Given the description of an element on the screen output the (x, y) to click on. 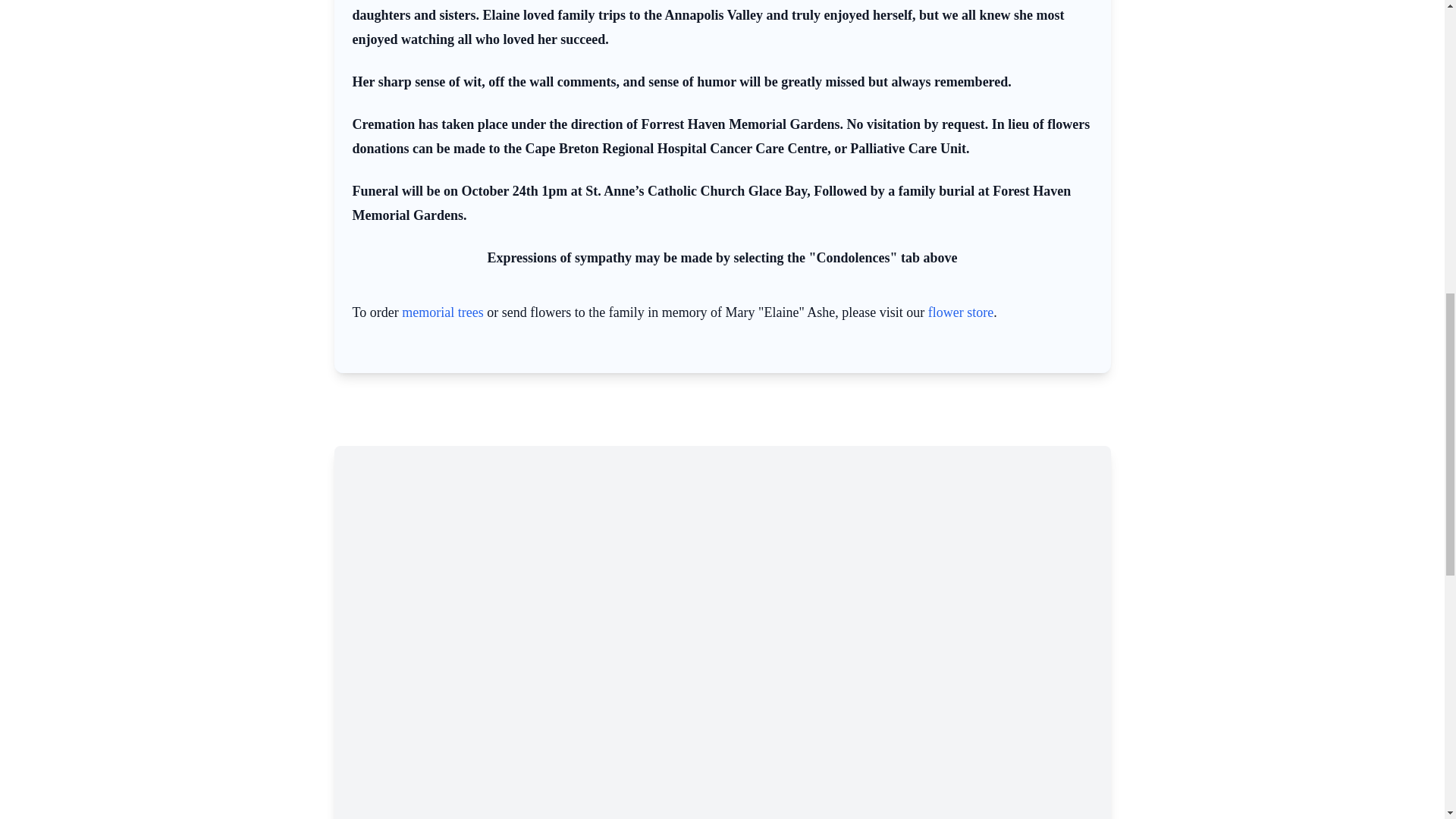
flower store (960, 312)
memorial trees (442, 312)
